Given the description of an element on the screen output the (x, y) to click on. 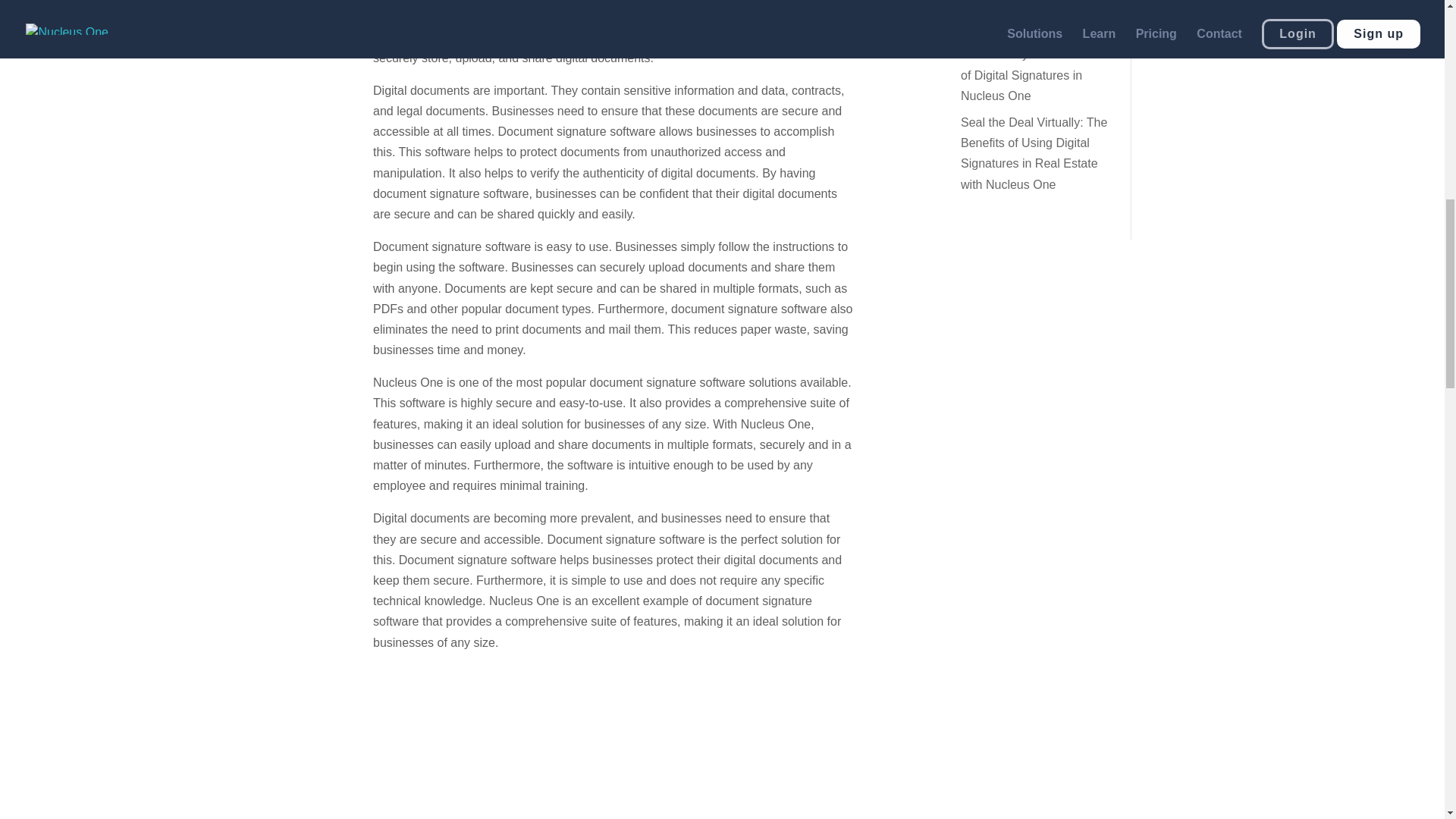
Follow on Instagram (1052, 274)
Follow on X (1112, 274)
Follow on TikTok (1021, 274)
Follow on Facebook (1082, 274)
Follow on LinkedIn (1118, 304)
Follow on Youtube (991, 274)
